Given the description of an element on the screen output the (x, y) to click on. 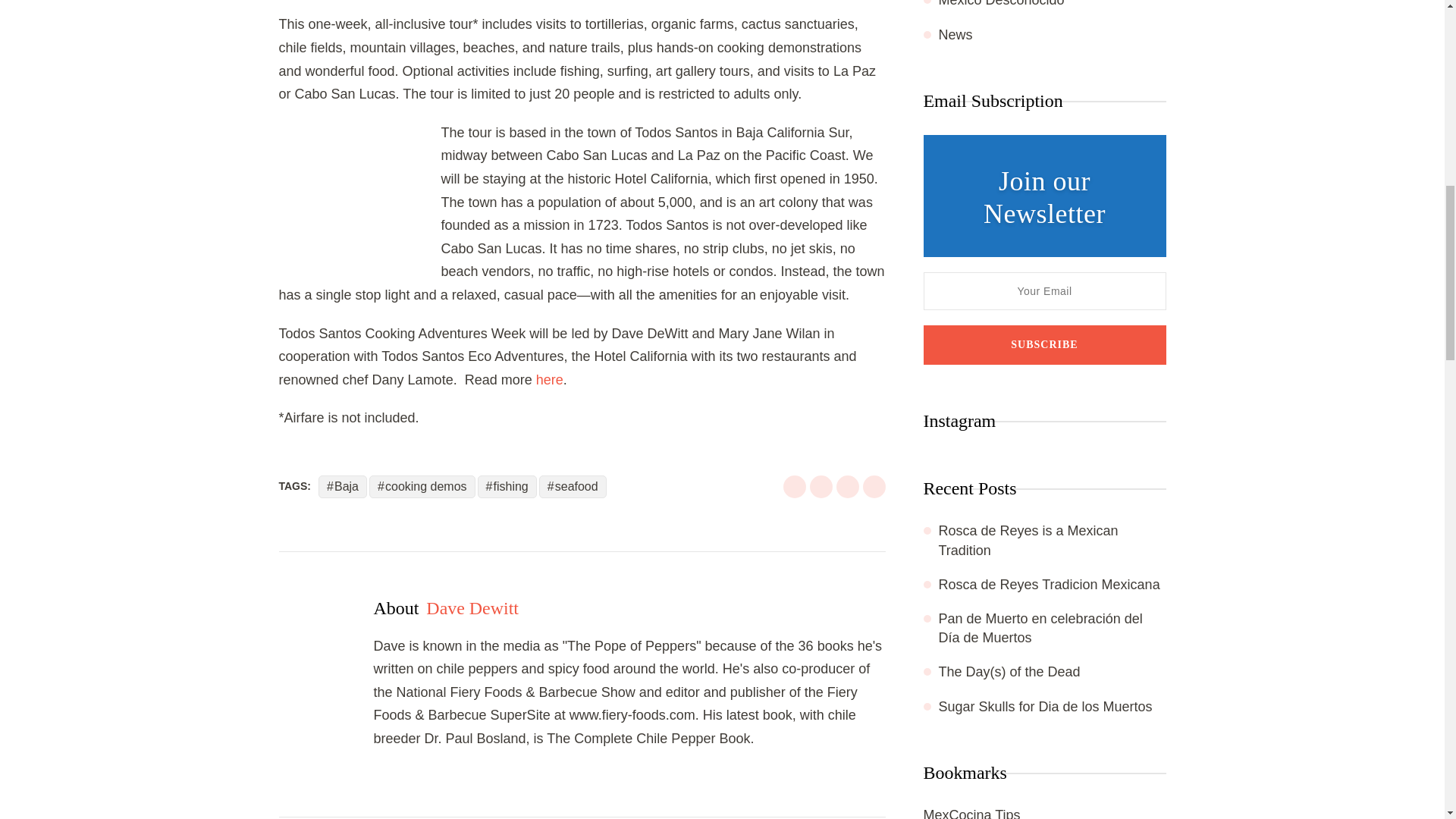
Baja California Sur (359, 198)
here (549, 379)
Subscribe (1044, 344)
Baja (342, 486)
cooking demos (422, 486)
fishing (507, 486)
seafood (572, 486)
